Given the description of an element on the screen output the (x, y) to click on. 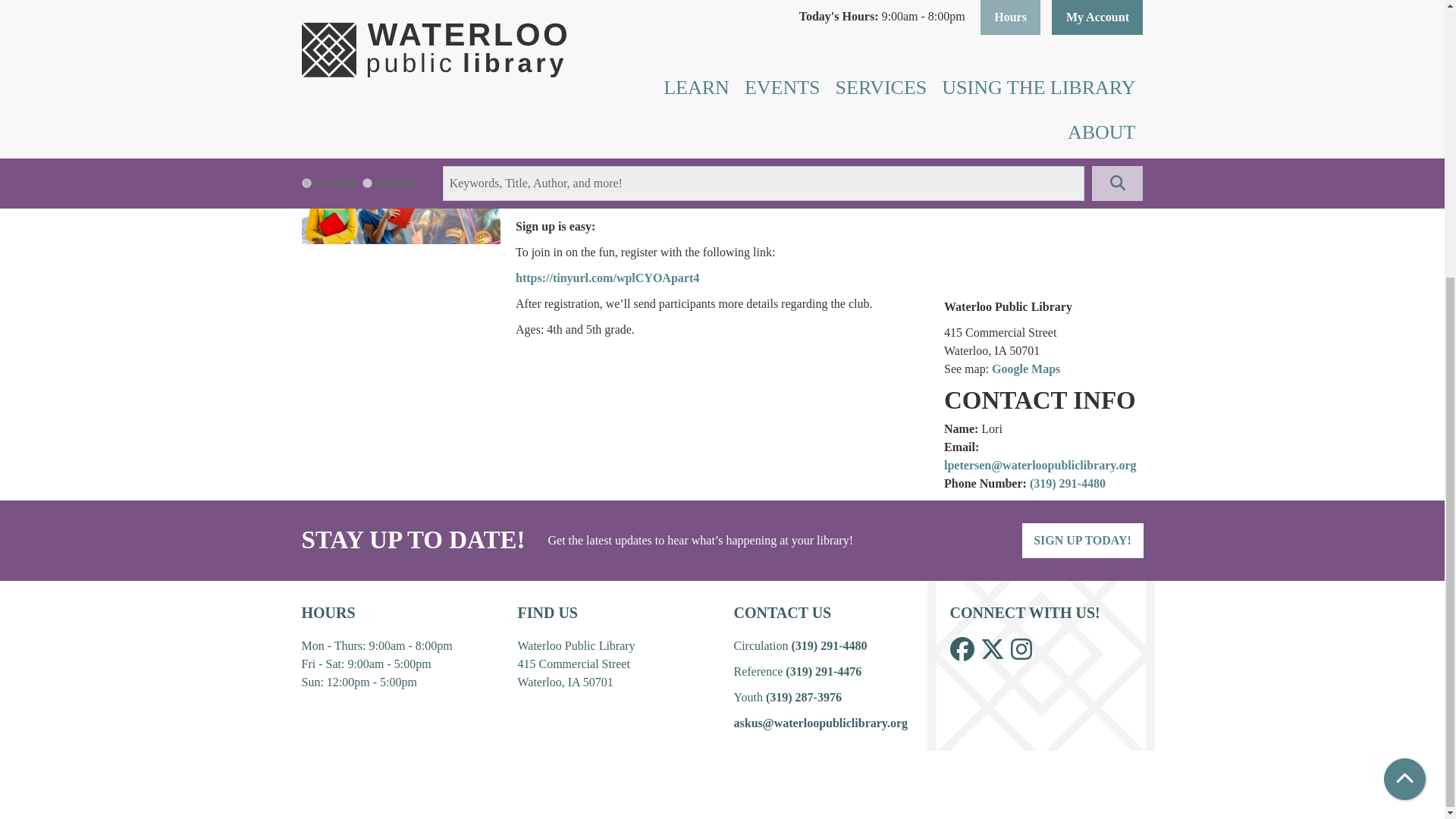
Back To Top (1404, 366)
